Given the description of an element on the screen output the (x, y) to click on. 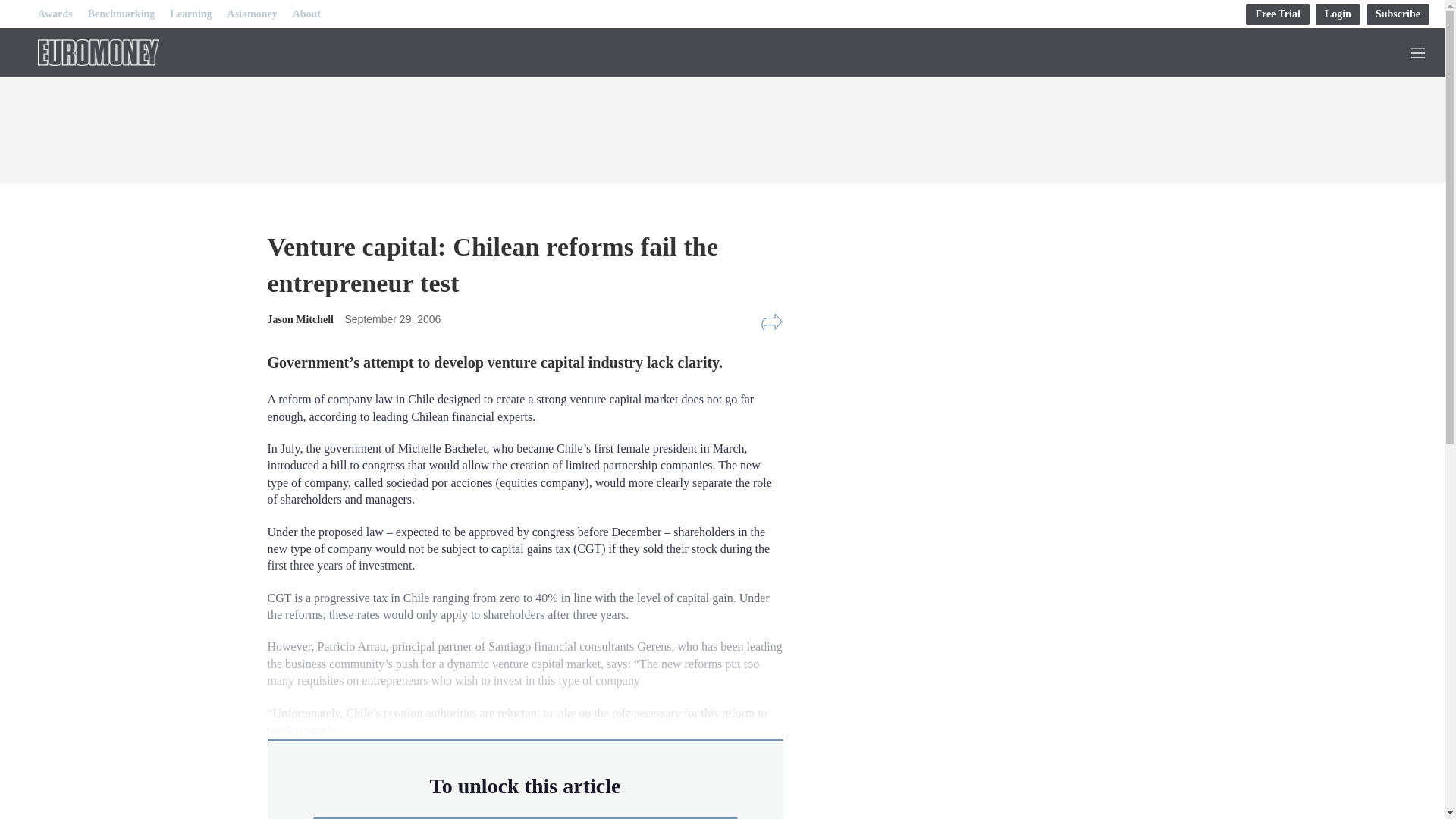
Login (1337, 13)
Asiamoney (252, 13)
3rd party ad content (721, 126)
3rd party ad content (979, 543)
3rd party ad content (979, 339)
Subscribe (1398, 13)
About (306, 13)
Free Trial (1277, 13)
Benchmarking (121, 13)
Share (771, 322)
